Given the description of an element on the screen output the (x, y) to click on. 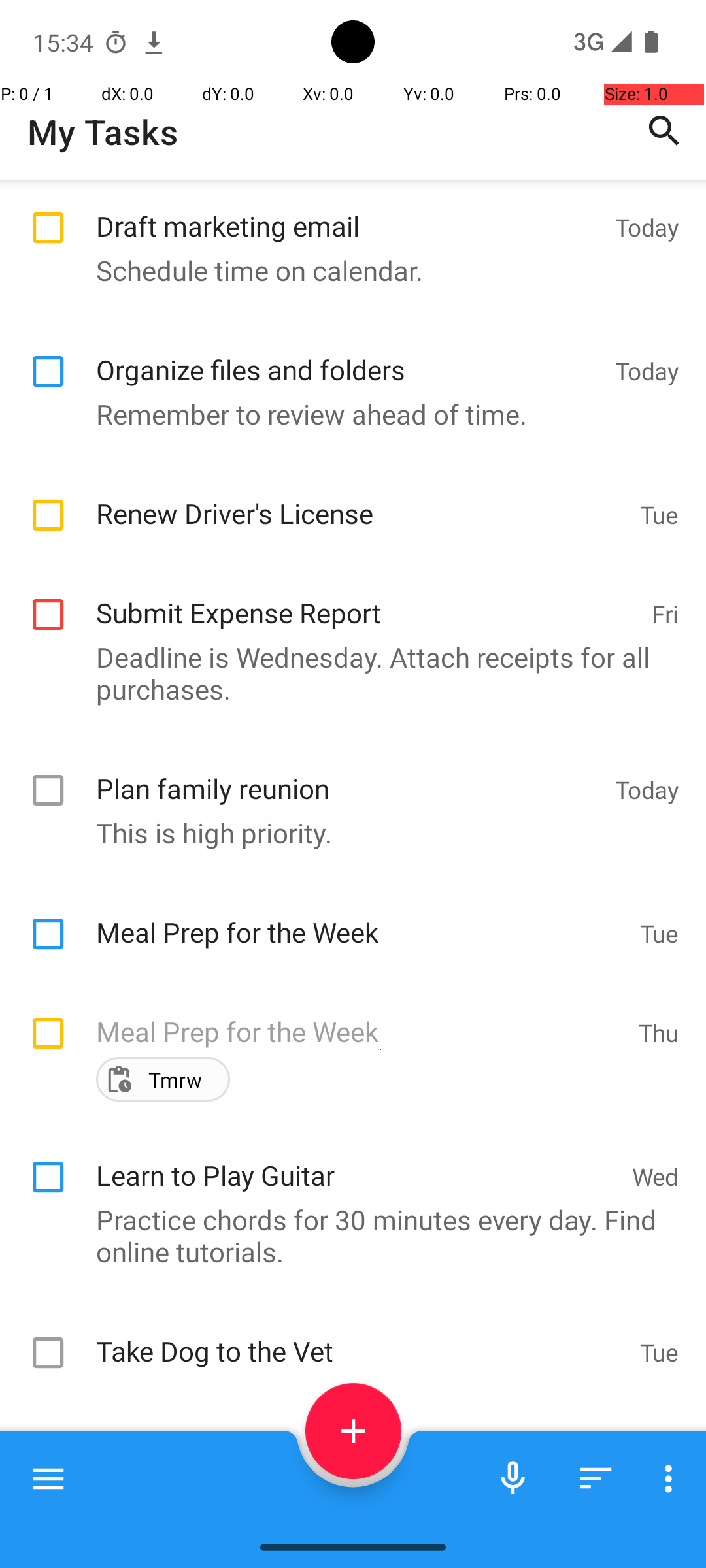
Schedule time on calendar. Element type: android.widget.TextView (346, 269)
Organize files and folders Element type: android.widget.TextView (348, 355)
Remember to review ahead of time. Element type: android.widget.TextView (346, 413)
Plan family reunion Element type: android.widget.TextView (348, 774)
This is high priority. Element type: android.widget.TextView (346, 832)
